Given the description of an element on the screen output the (x, y) to click on. 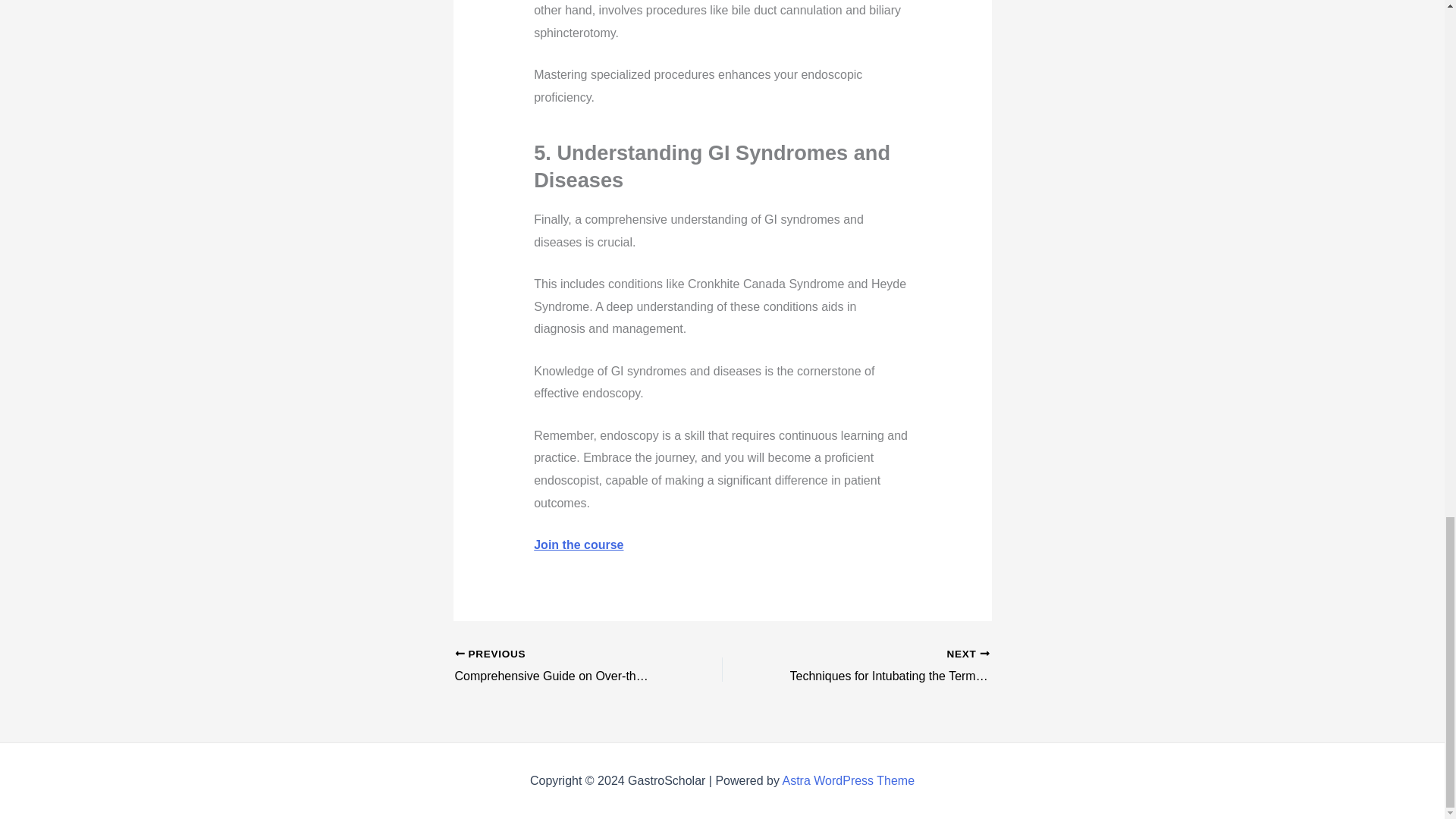
Astra WordPress Theme (847, 780)
Join the course (578, 544)
